Given the description of an element on the screen output the (x, y) to click on. 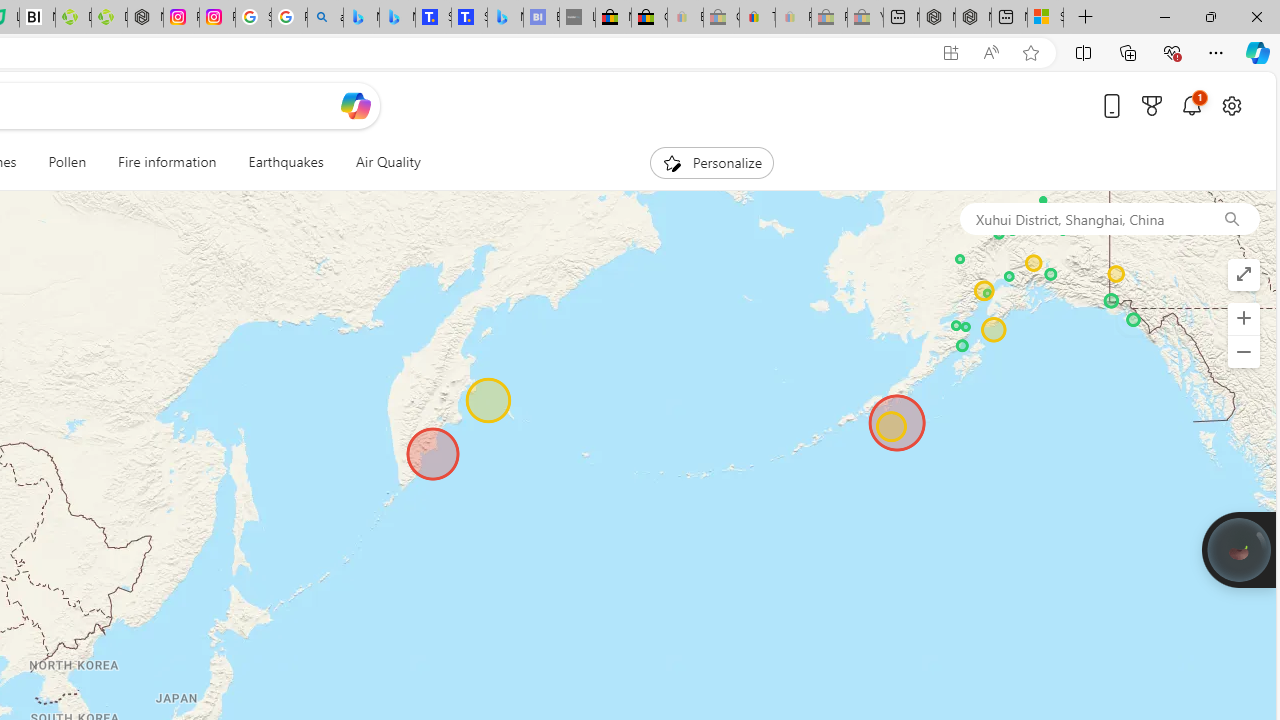
Pollen (67, 162)
Zoom out (1243, 351)
Microsoft Bing Travel - Flights from Hong Kong to Bangkok (361, 17)
Threats and offensive language policy | eBay (756, 17)
Fire information (167, 162)
